Given the description of an element on the screen output the (x, y) to click on. 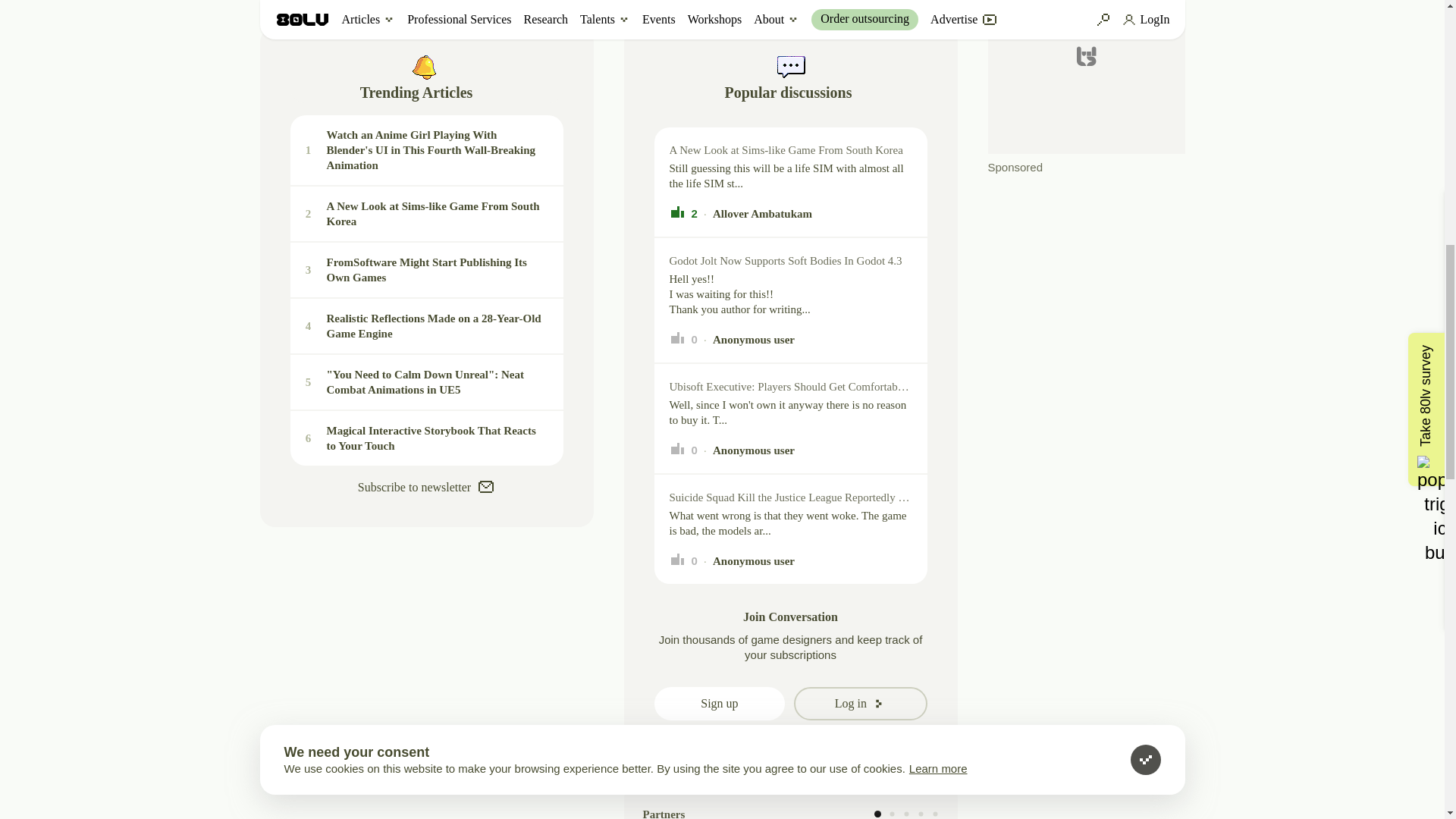
Anonymous user (753, 339)
Allover Ambatukam (762, 213)
2 (425, 325)
0 (682, 213)
Sign up (682, 339)
0 (718, 703)
Anonymous user (682, 450)
0 (753, 450)
